Given the description of an element on the screen output the (x, y) to click on. 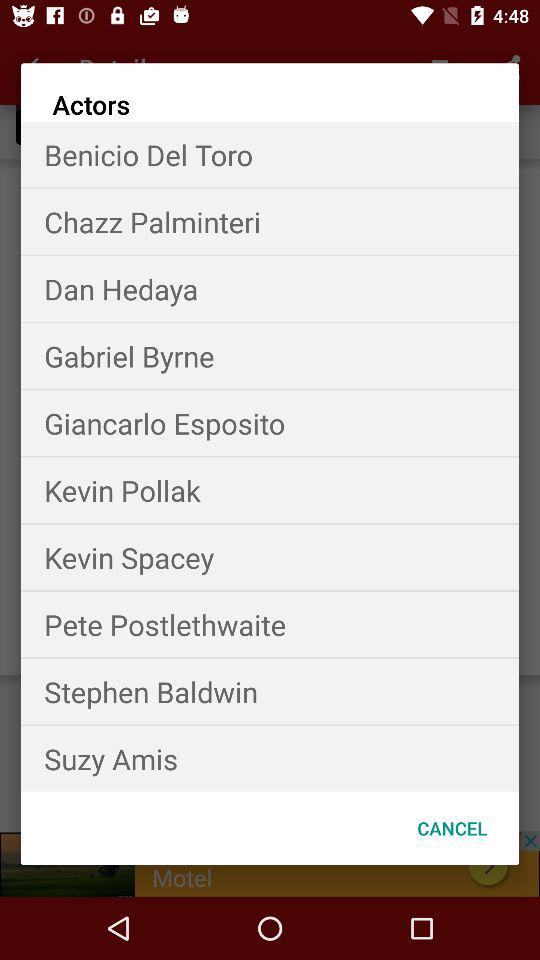
launch icon above cancel (269, 758)
